Given the description of an element on the screen output the (x, y) to click on. 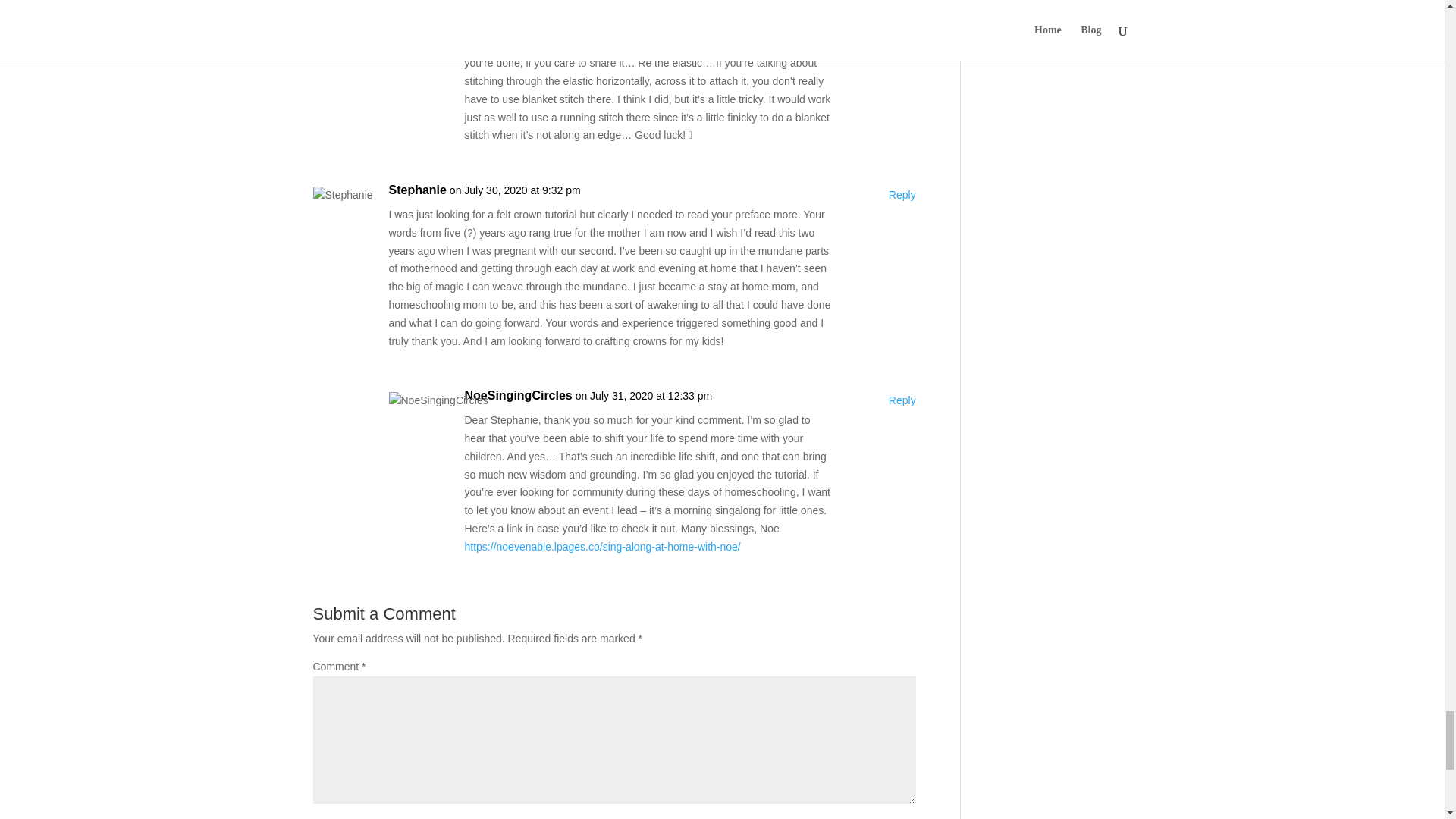
Reply (901, 195)
Reply (901, 26)
Reply (901, 401)
